Given the description of an element on the screen output the (x, y) to click on. 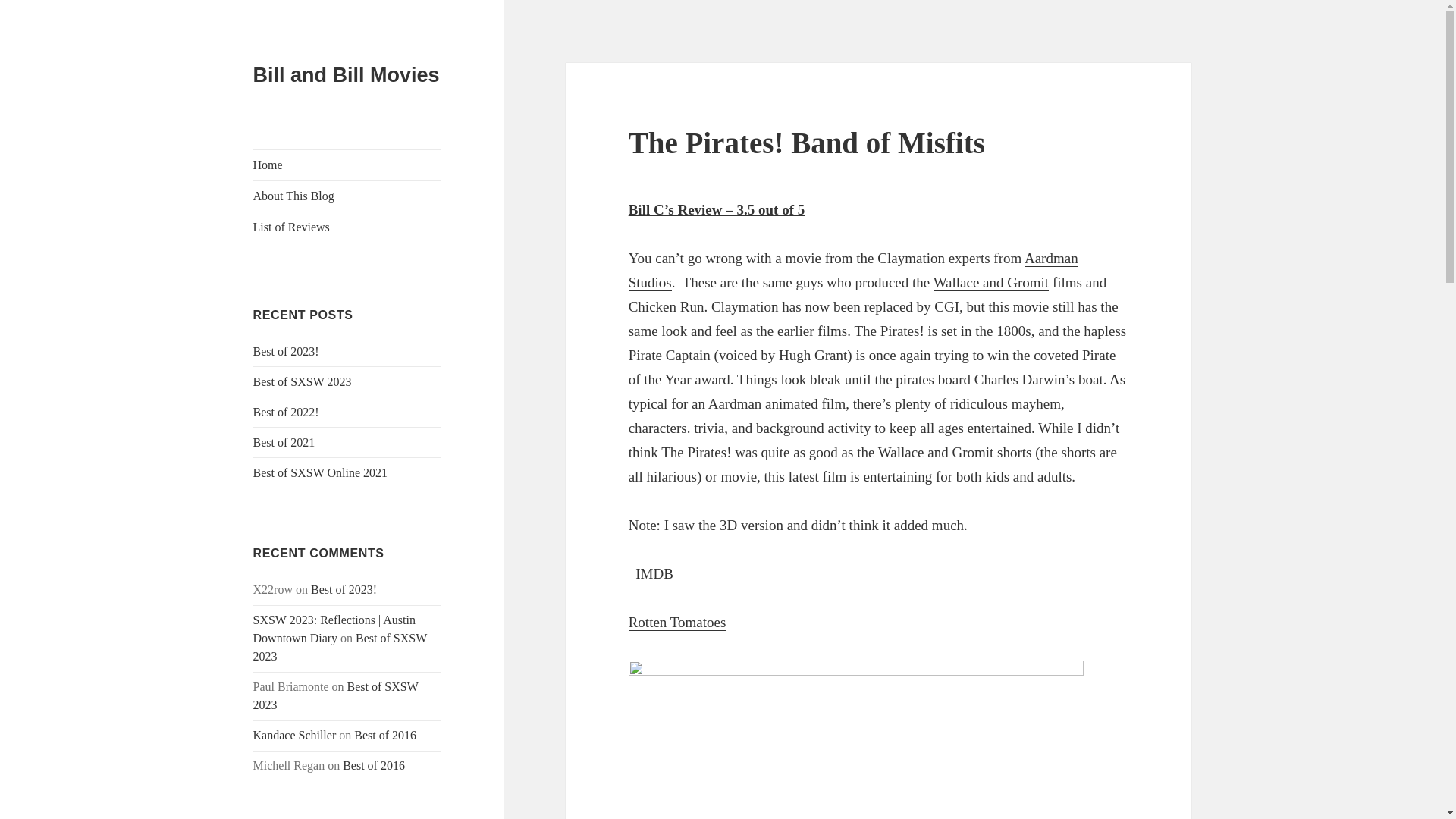
Best of 2021 (284, 441)
Best of SXSW 2023 (302, 381)
Best of SXSW 2023 (339, 646)
Chicken Run (666, 306)
Bill and Bill Movies (346, 74)
Best of SXSW 2023 (336, 695)
Kandace Schiller (294, 735)
List of Reviews (347, 227)
Aardman (853, 270)
Best of SXSW Online 2021 (320, 472)
